Given the description of an element on the screen output the (x, y) to click on. 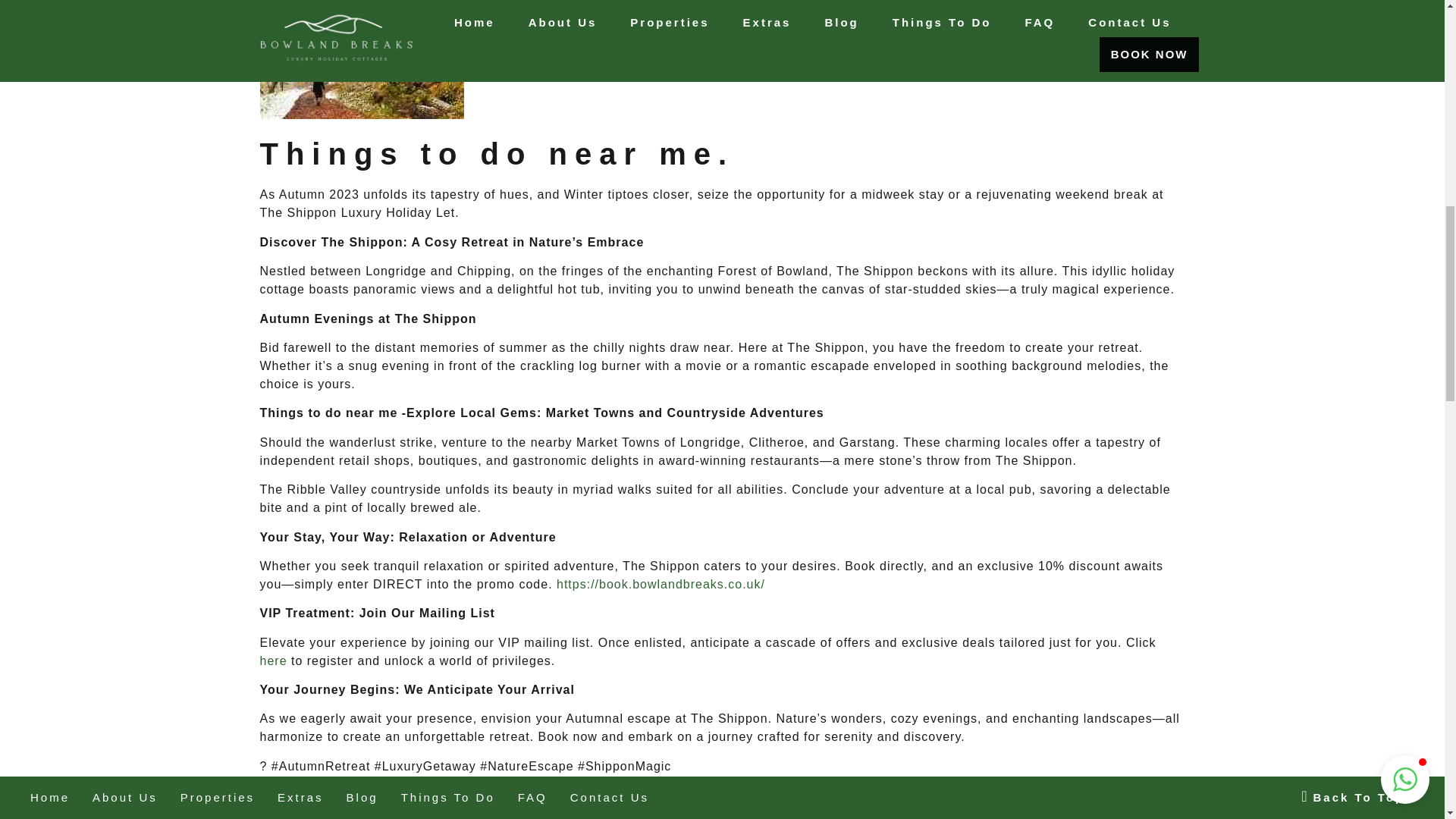
Things to do near me 1 (361, 59)
